Given the description of an element on the screen output the (x, y) to click on. 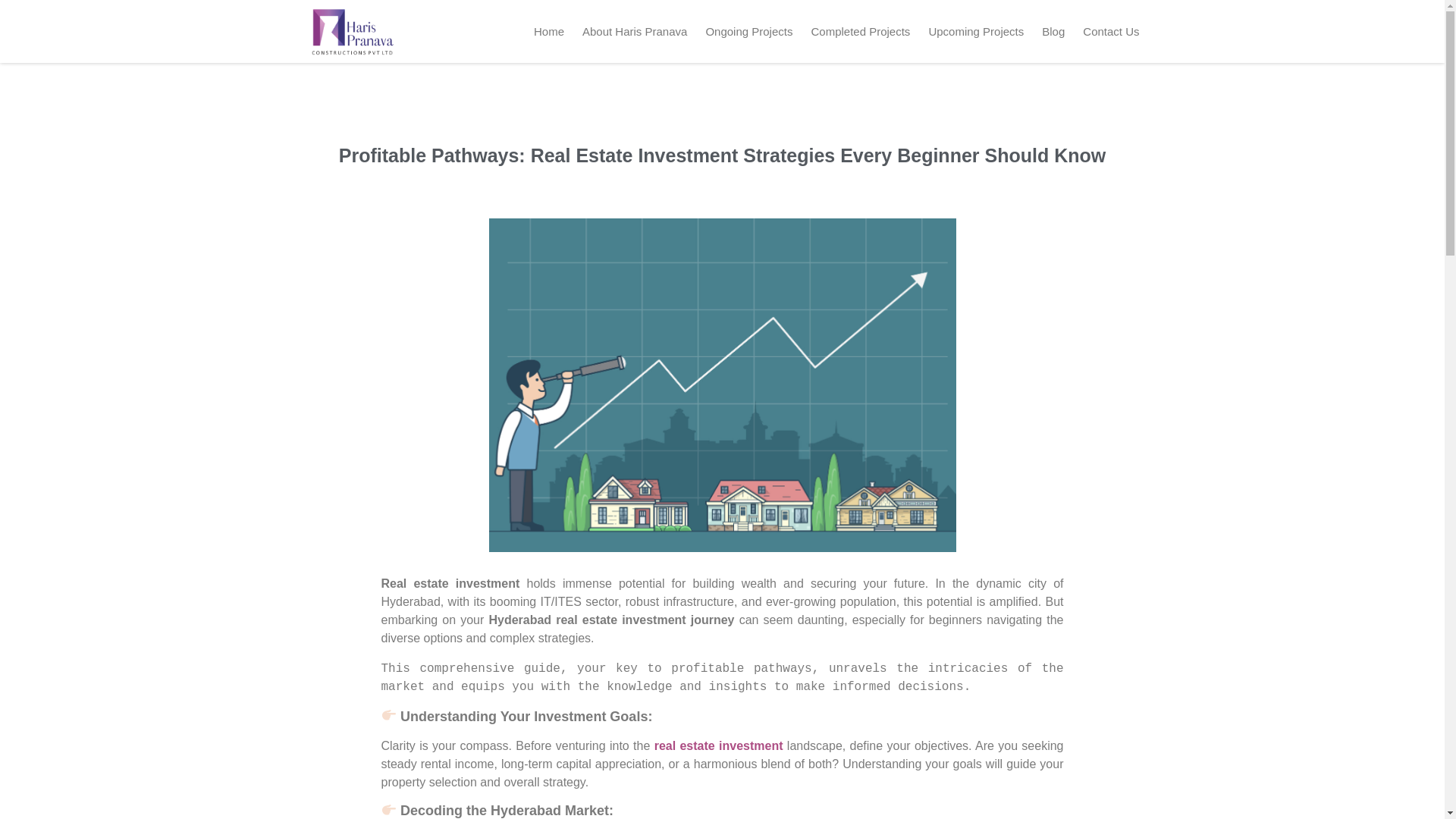
Home (548, 31)
About Haris Pranava (634, 31)
real estate investment (718, 745)
Contact Us (1111, 31)
Blog (1052, 31)
Completed Projects (860, 31)
Ongoing Projects (748, 31)
Upcoming Projects (975, 31)
